Given the description of an element on the screen output the (x, y) to click on. 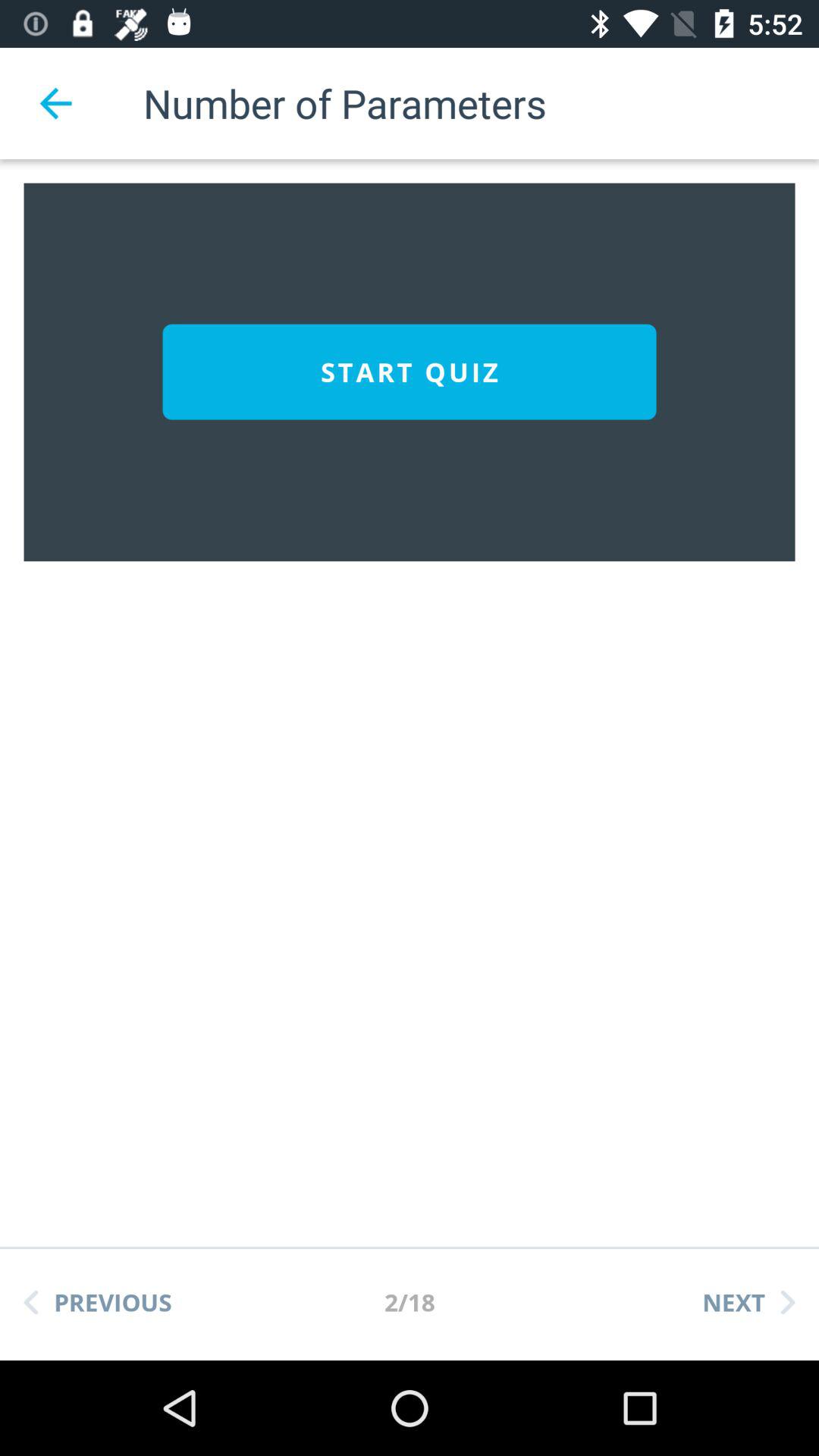
tap the next icon (748, 1302)
